Given the description of an element on the screen output the (x, y) to click on. 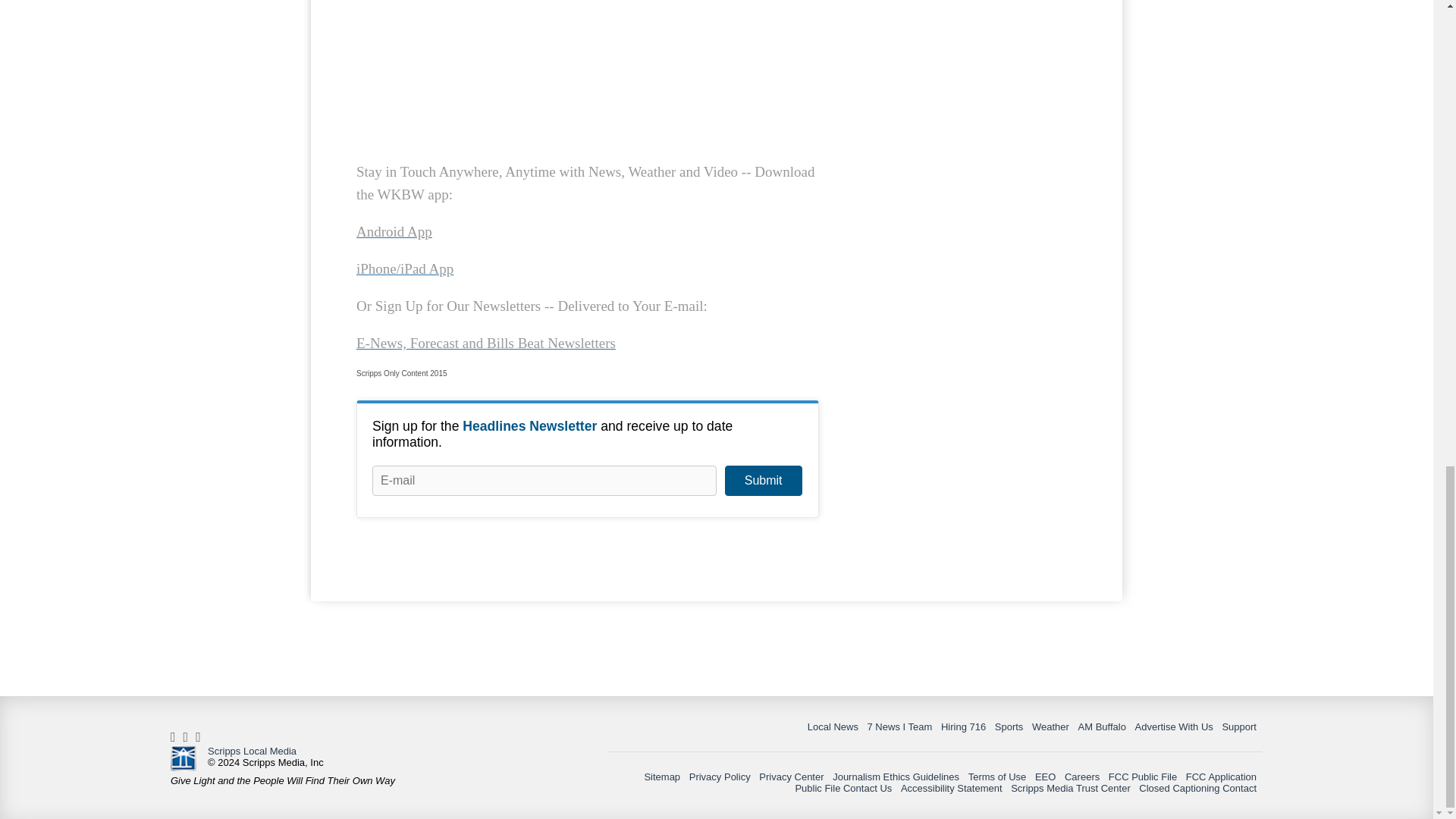
Submit (763, 481)
